Given the description of an element on the screen output the (x, y) to click on. 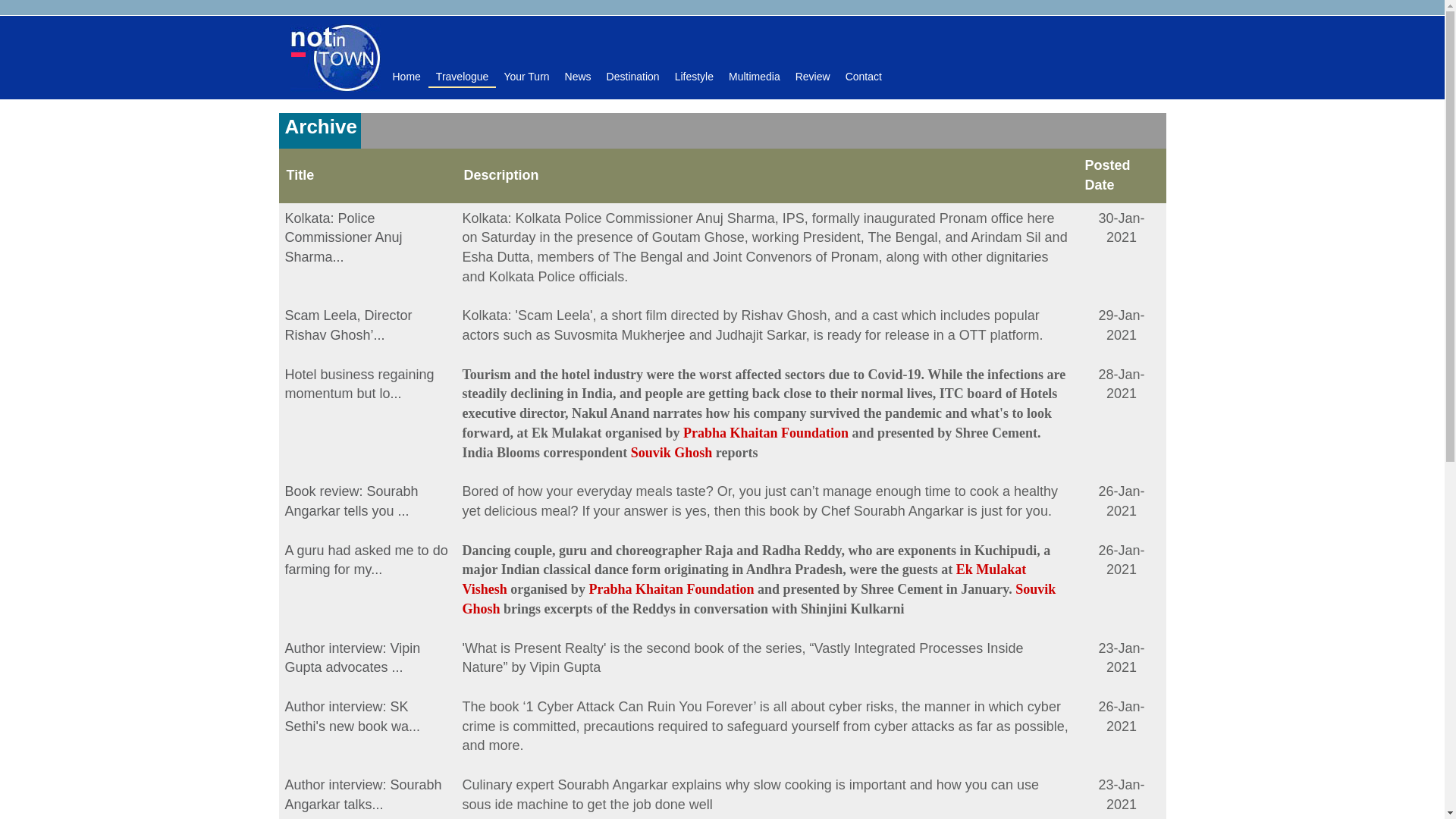
Contact (863, 76)
Home (406, 76)
Review (812, 76)
Your Turn (526, 76)
News (577, 76)
Lifestyle (693, 76)
Destination (632, 76)
Multimedia (753, 76)
Travelogue (462, 76)
